Given the description of an element on the screen output the (x, y) to click on. 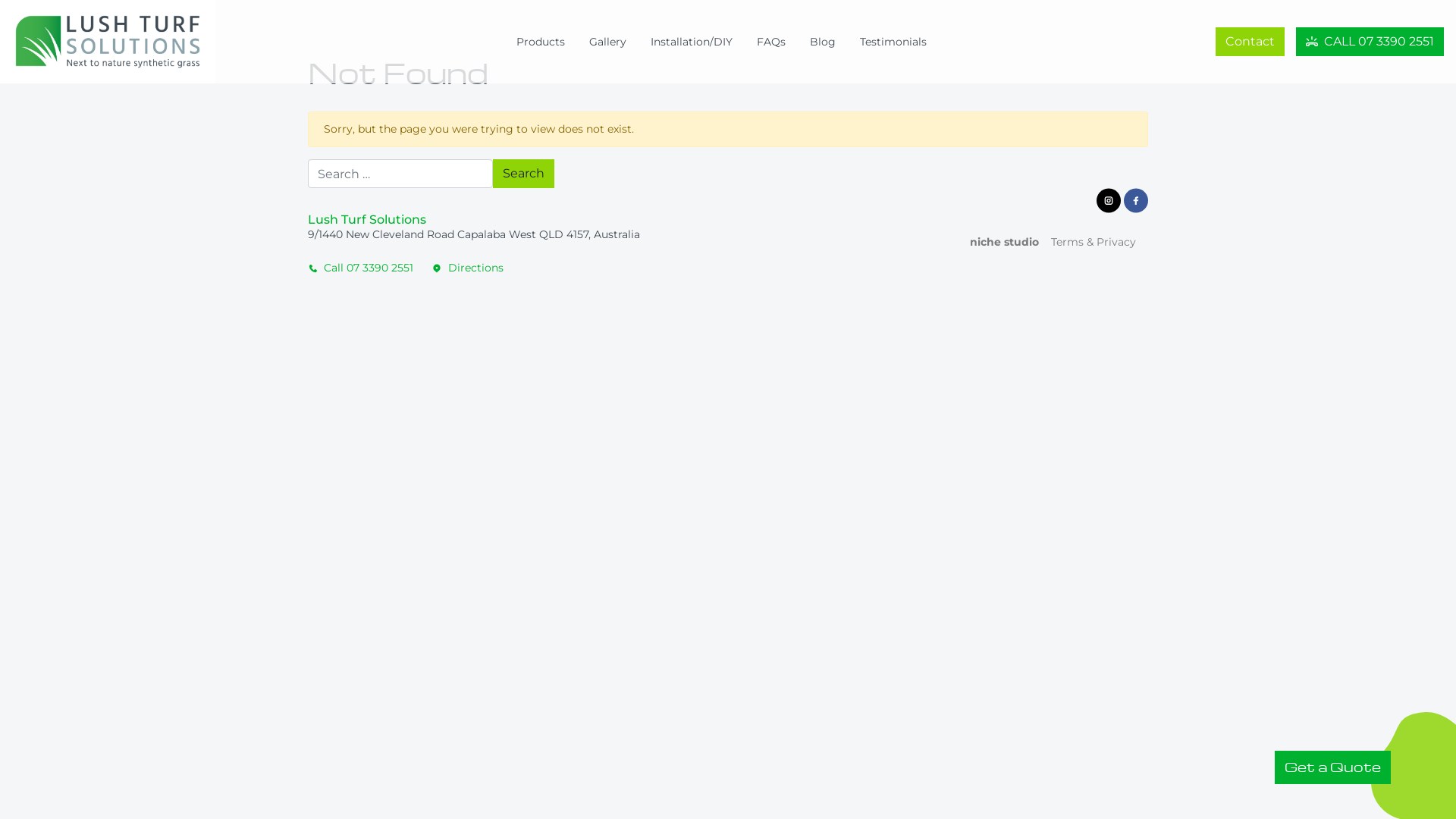
FAQs Element type: text (770, 42)
Products Element type: text (540, 42)
Directions Element type: text (468, 267)
Gallery Element type: text (607, 42)
niche studio Element type: text (997, 242)
Contact Element type: text (1249, 41)
CALL 07 3390 2551 Element type: text (1369, 41)
Lush Turf Solutions Element type: text (119, 41)
Installation/DIY Element type: text (691, 42)
Get a Quote Element type: text (1332, 767)
Search Element type: text (523, 173)
Terms & Privacy Element type: text (1093, 242)
Testimonials Element type: text (892, 42)
Call 07 3390 2551 Element type: text (365, 267)
Blog Element type: text (822, 42)
